Given the description of an element on the screen output the (x, y) to click on. 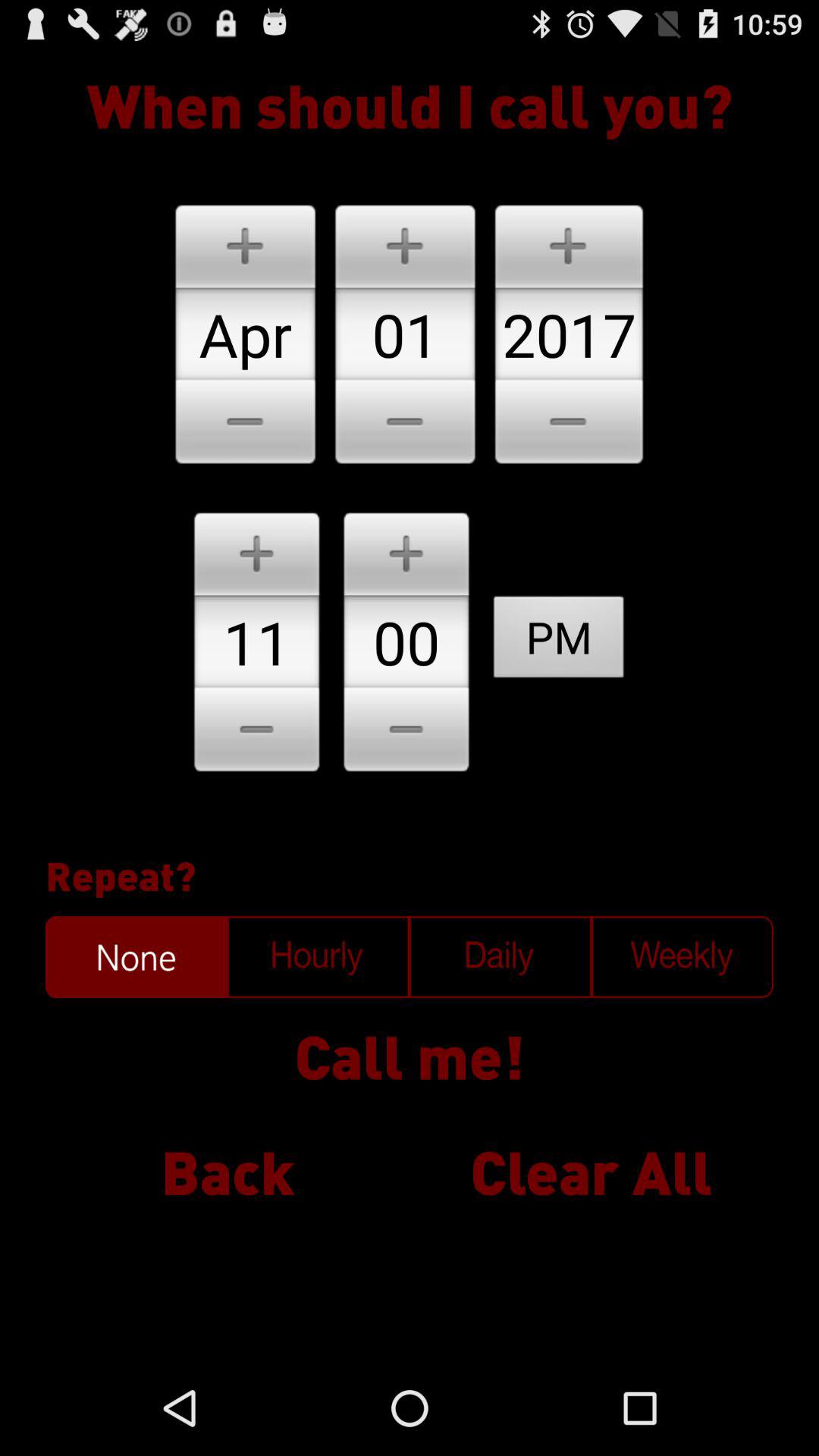
repeat hourly (318, 957)
